Given the description of an element on the screen output the (x, y) to click on. 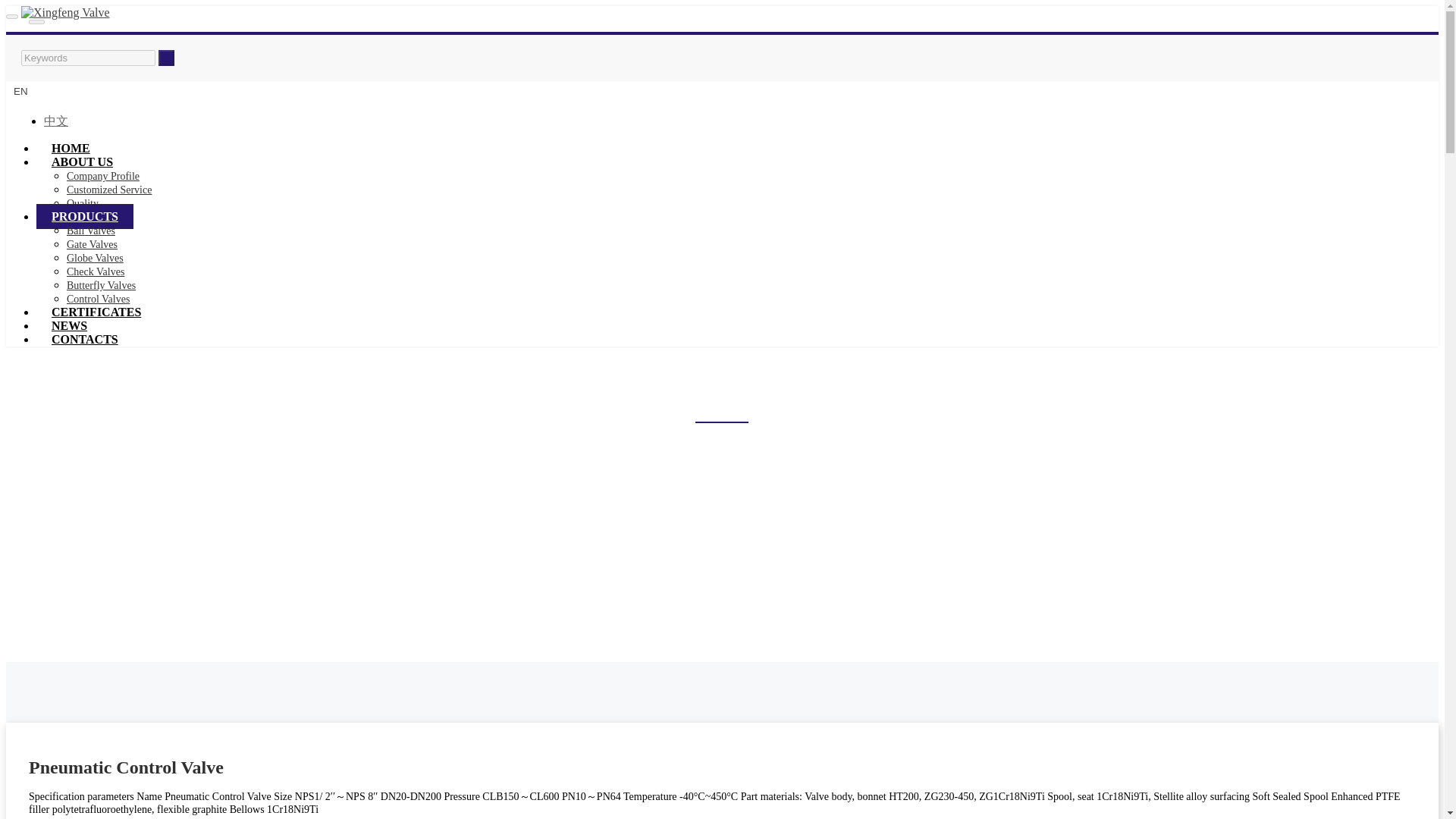
Quality (82, 203)
Control Valves (97, 298)
NEWS (68, 325)
PRODUCTS (84, 216)
Gate Valves (91, 244)
CONTACTS (84, 339)
Company Profile (102, 175)
Control Valves (737, 475)
Globe Valves (94, 257)
HOME (70, 147)
